Given the description of an element on the screen output the (x, y) to click on. 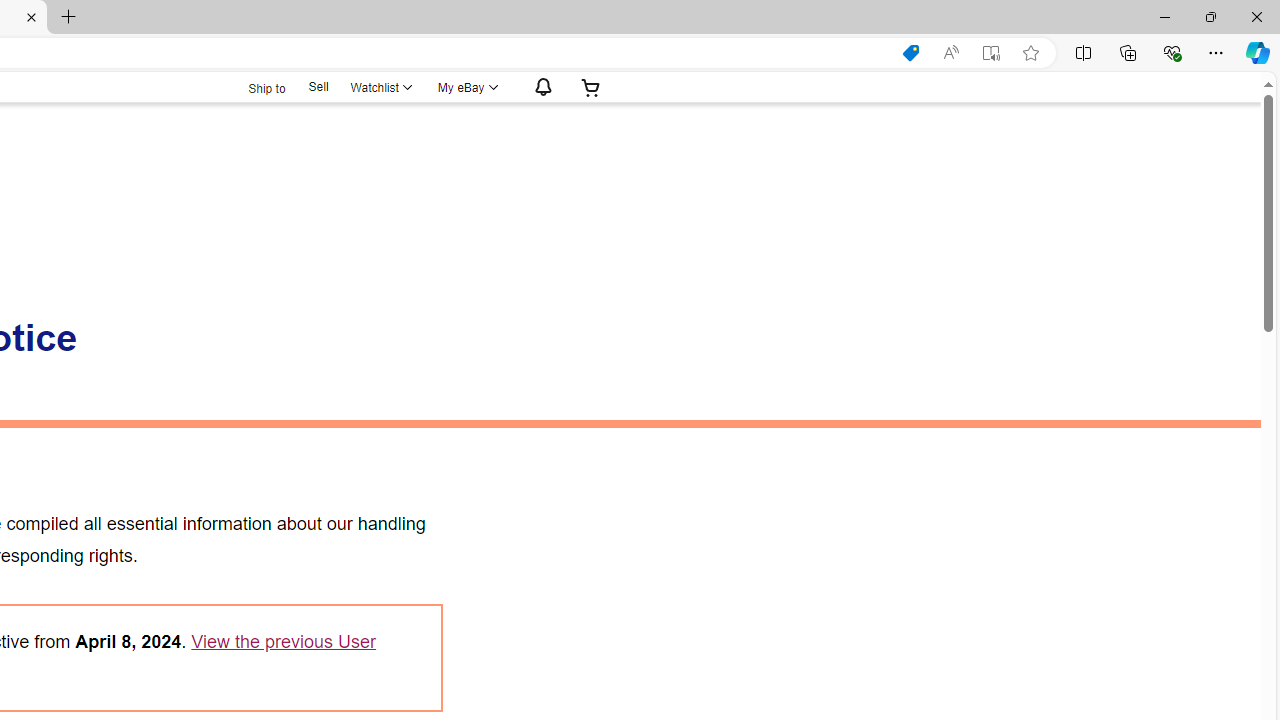
Sell (318, 87)
Notifications (538, 87)
WatchlistExpand Watch List (380, 87)
Ship to (253, 85)
Sell (317, 86)
This site has coupons! Shopping in Microsoft Edge (910, 53)
